Given the description of an element on the screen output the (x, y) to click on. 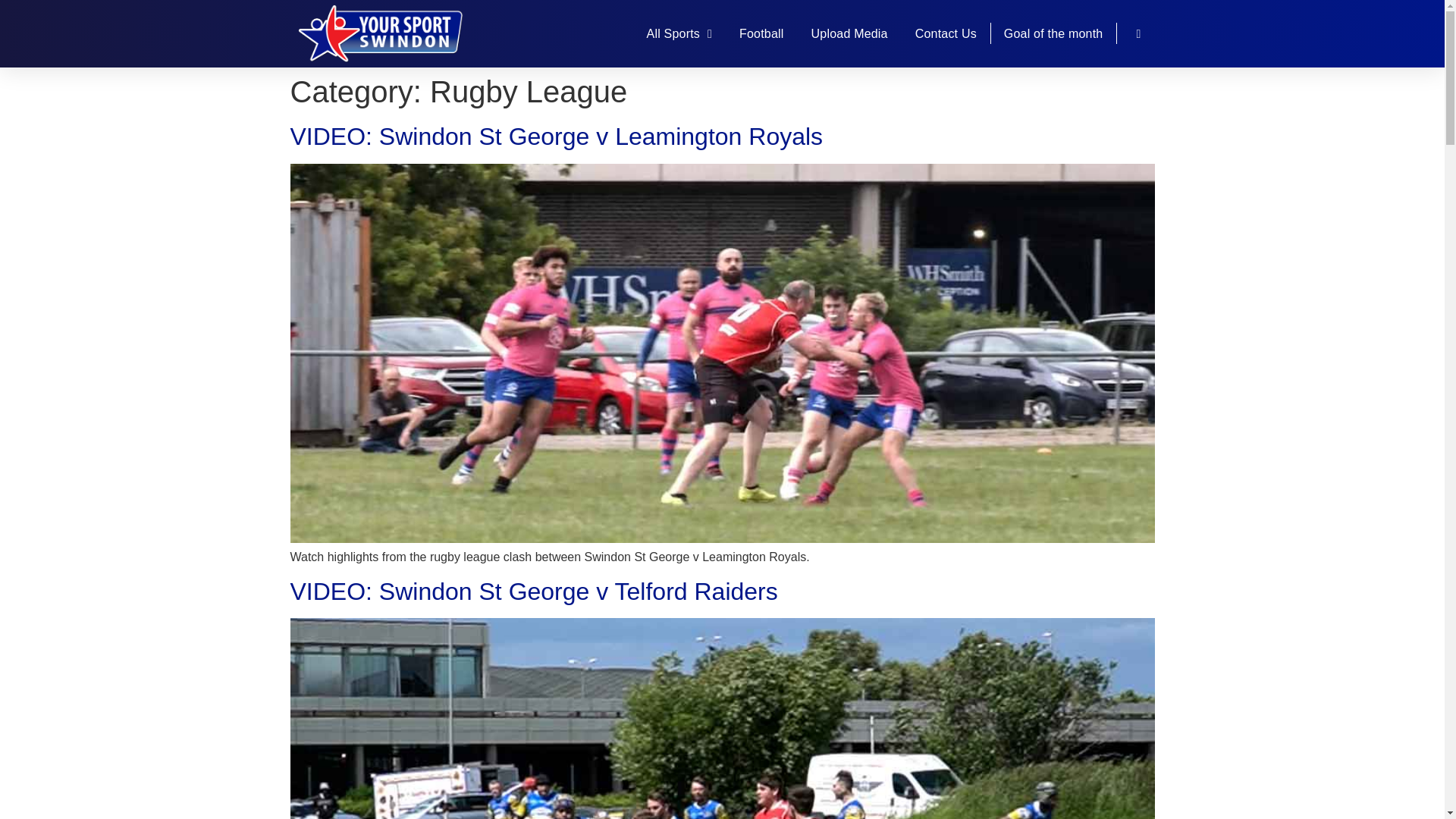
Contact Us (945, 33)
All Sports (679, 33)
Goal of the month (1053, 33)
Upload Media (849, 33)
Football (761, 33)
